Given the description of an element on the screen output the (x, y) to click on. 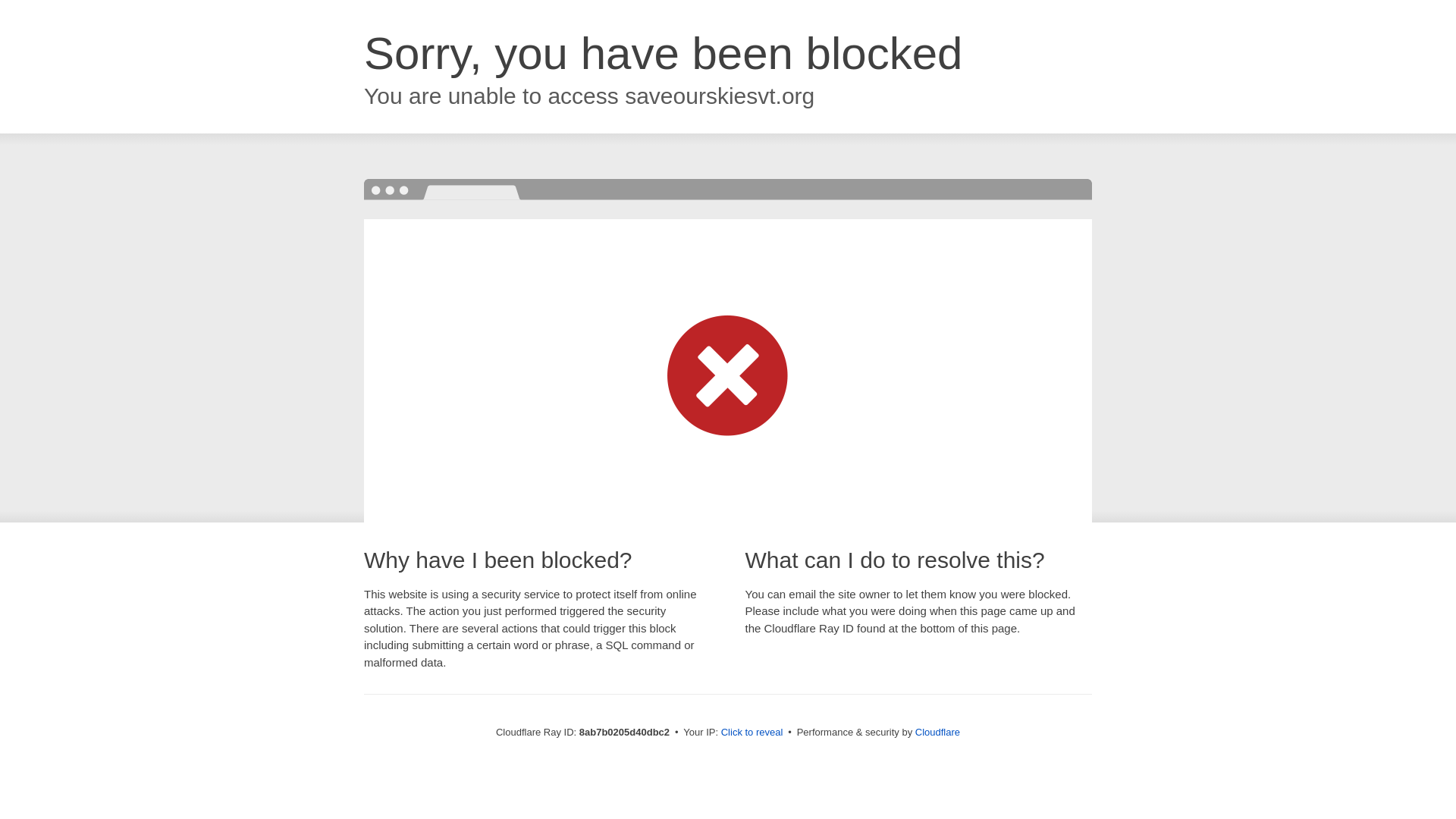
Cloudflare (937, 731)
Click to reveal (751, 732)
